Given the description of an element on the screen output the (x, y) to click on. 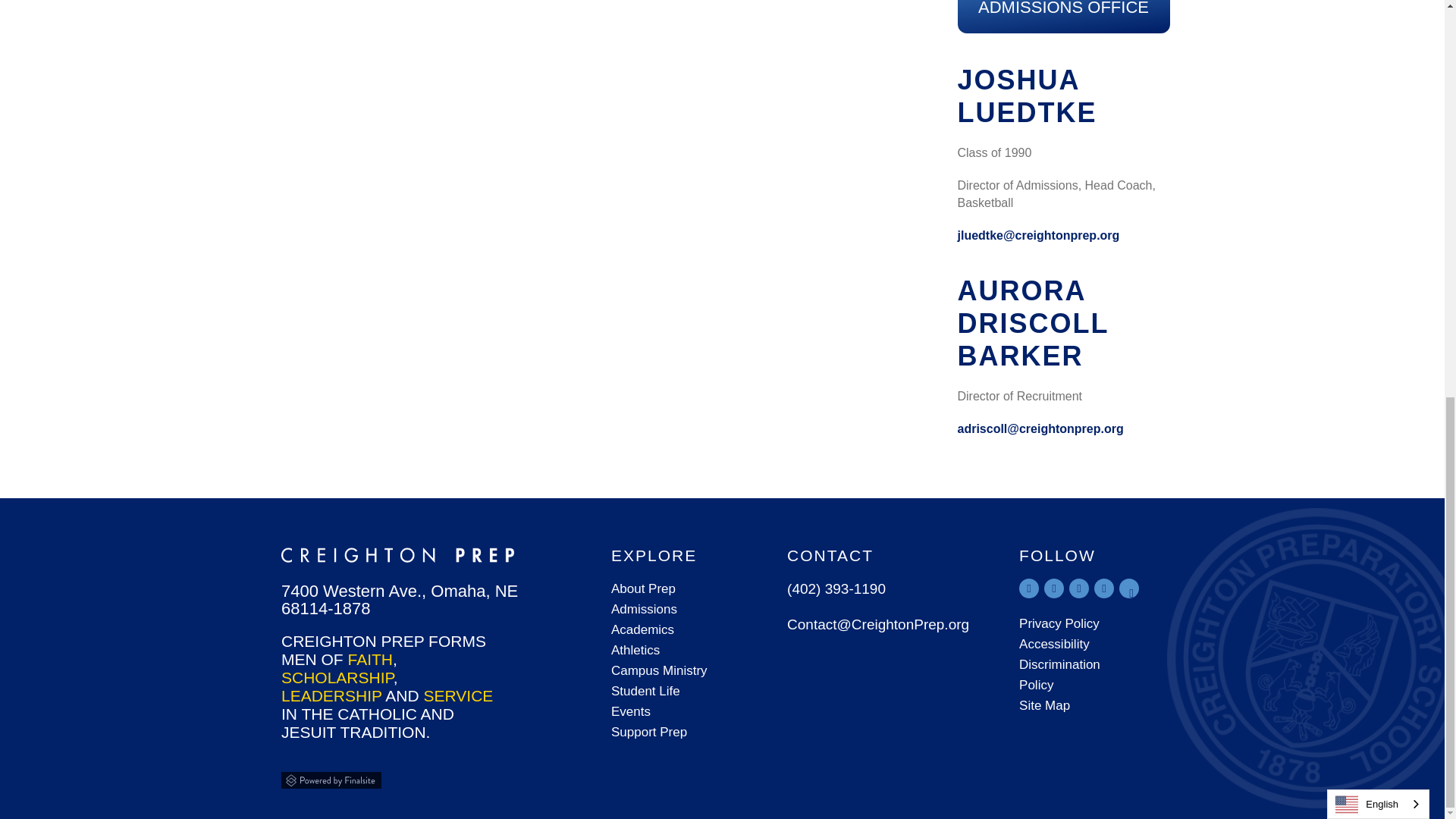
Email (1039, 428)
Email (1037, 235)
Powered by Finalsite opens in a new window (350, 777)
